Given the description of an element on the screen output the (x, y) to click on. 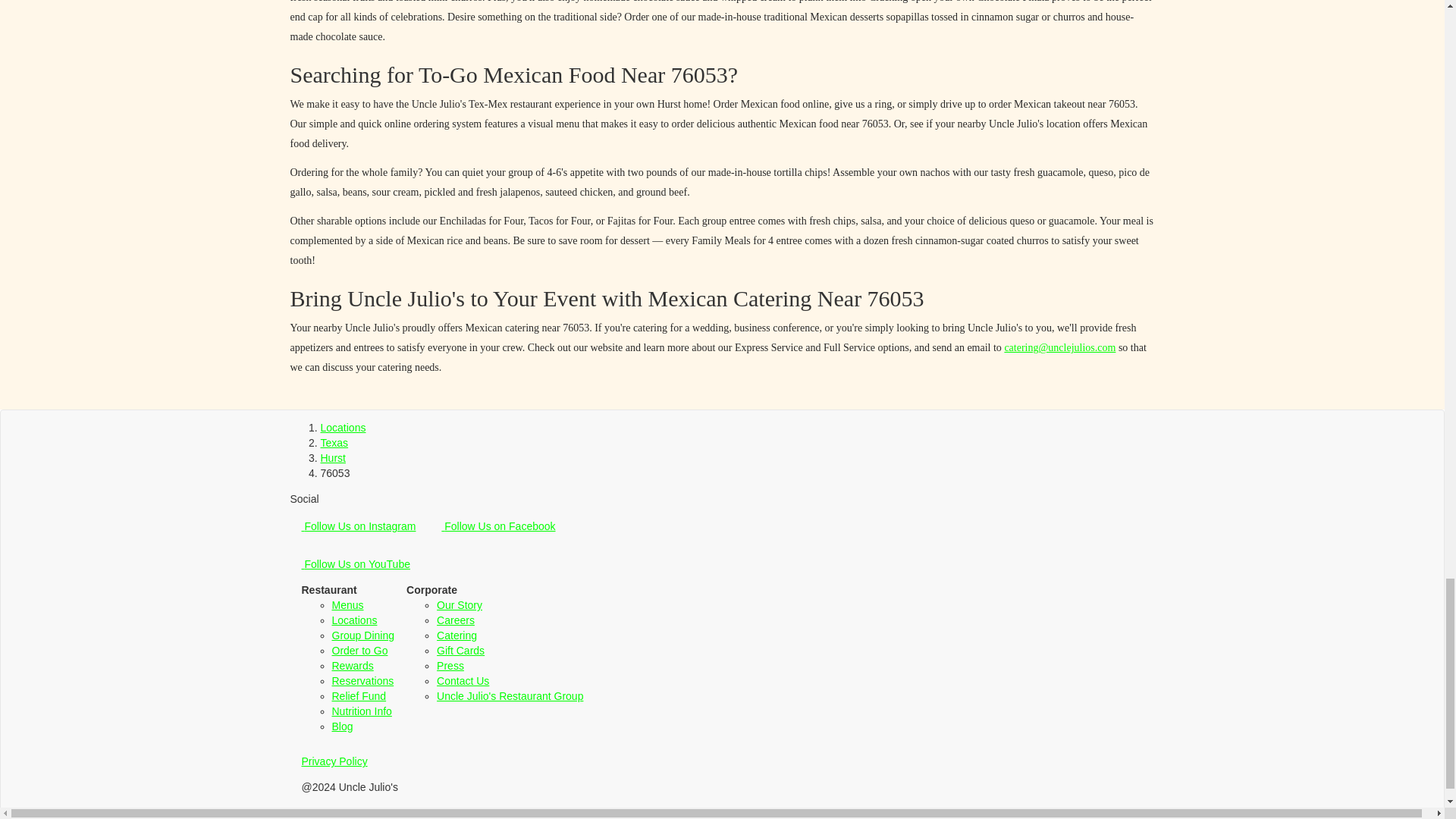
Hurst (332, 458)
Follow Us on YouTube (354, 564)
Follow Us on Facebook (497, 525)
Locations (342, 427)
Follow Us on Instagram (357, 525)
Texas (333, 442)
